Given the description of an element on the screen output the (x, y) to click on. 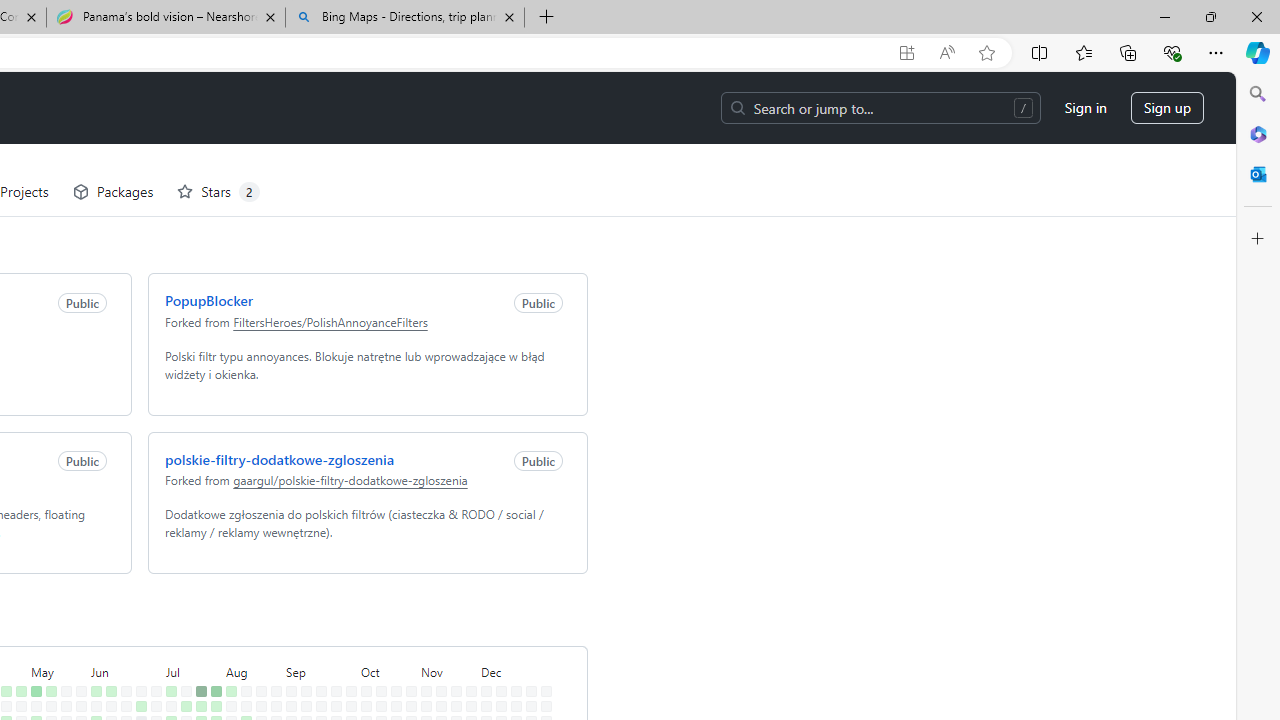
No contributions on October 20th. (392, 619)
No contributions on December 30th. (542, 634)
No contributions on December 15th. (512, 619)
No contributions on October 22nd. (392, 649)
No contributions on September 2nd. (287, 634)
No contributions on June 25th. (137, 649)
No contributions on November 19th. (452, 649)
No contributions on June 18th. (122, 649)
No contributions on June 10th. (107, 634)
No contributions on August 1st. (212, 678)
No contributions on July 26th. (197, 694)
No contributions on August 19th. (257, 634)
2 contributions on June 13th. (107, 678)
No contributions on October 14th. (377, 634)
No contributions on November 3rd. (422, 619)
